Given the description of an element on the screen output the (x, y) to click on. 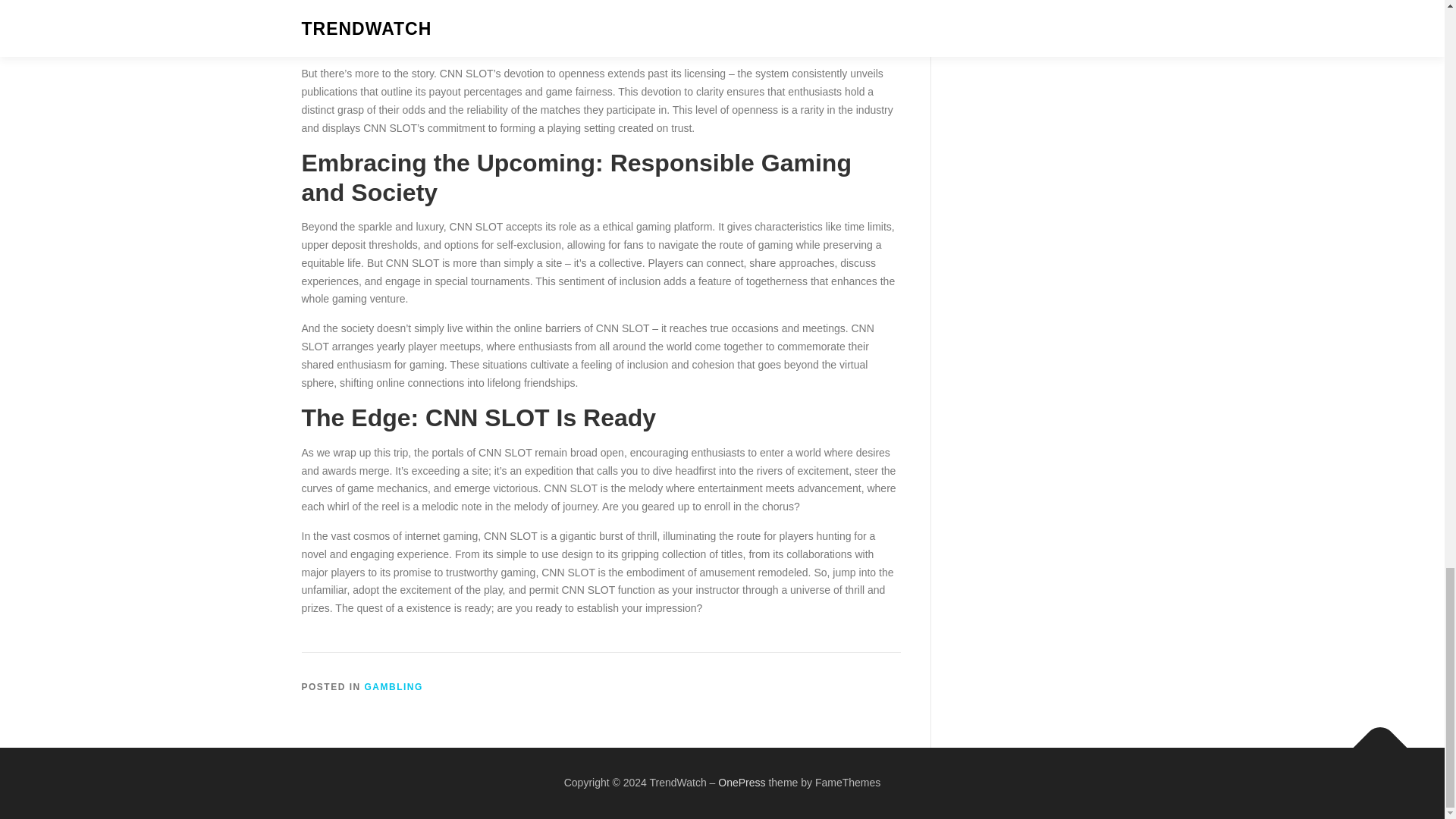
GAMBLING (394, 686)
Back To Top (1372, 740)
